Given the description of an element on the screen output the (x, y) to click on. 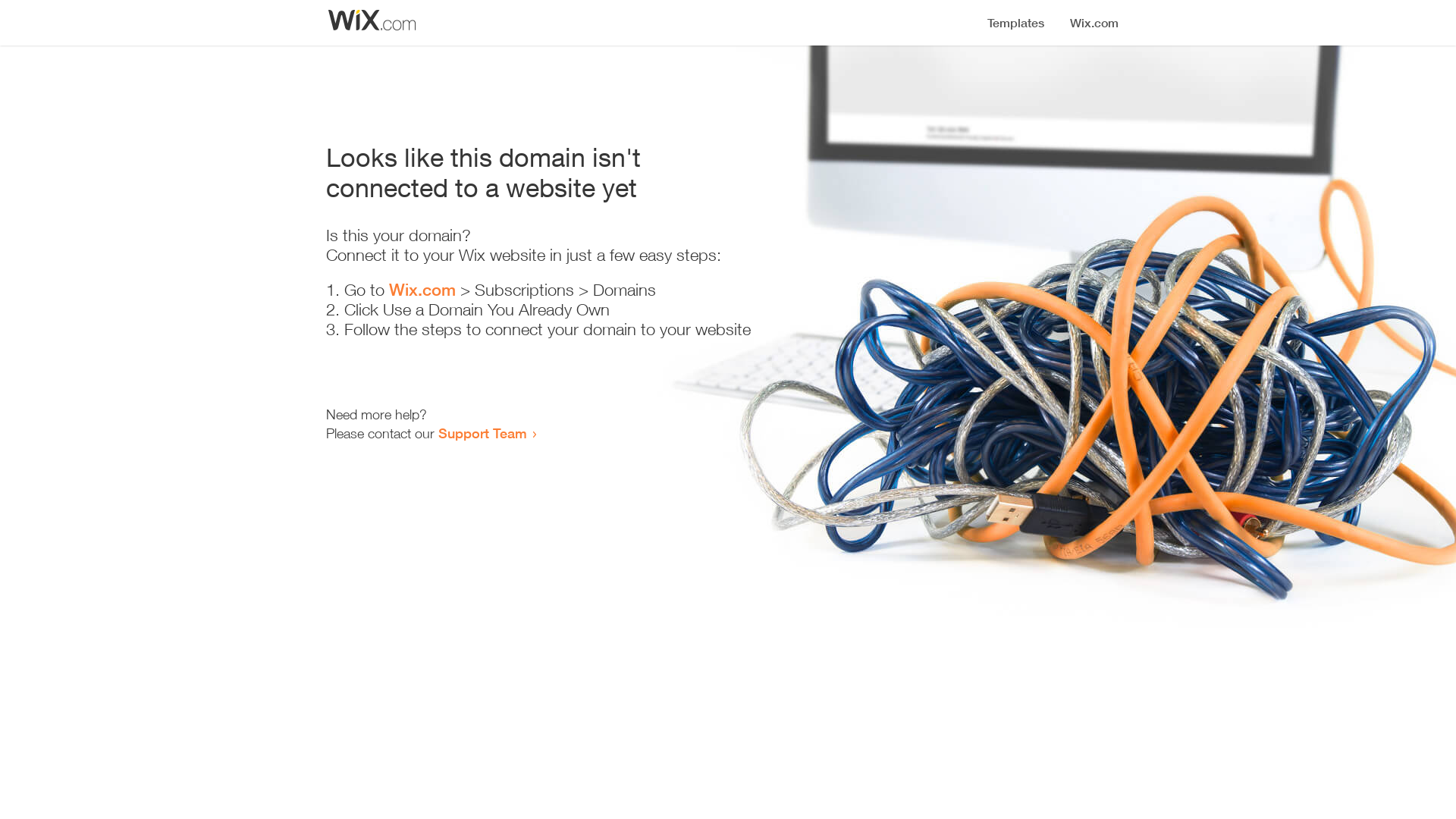
Support Team Element type: text (482, 432)
Wix.com Element type: text (422, 289)
